Given the description of an element on the screen output the (x, y) to click on. 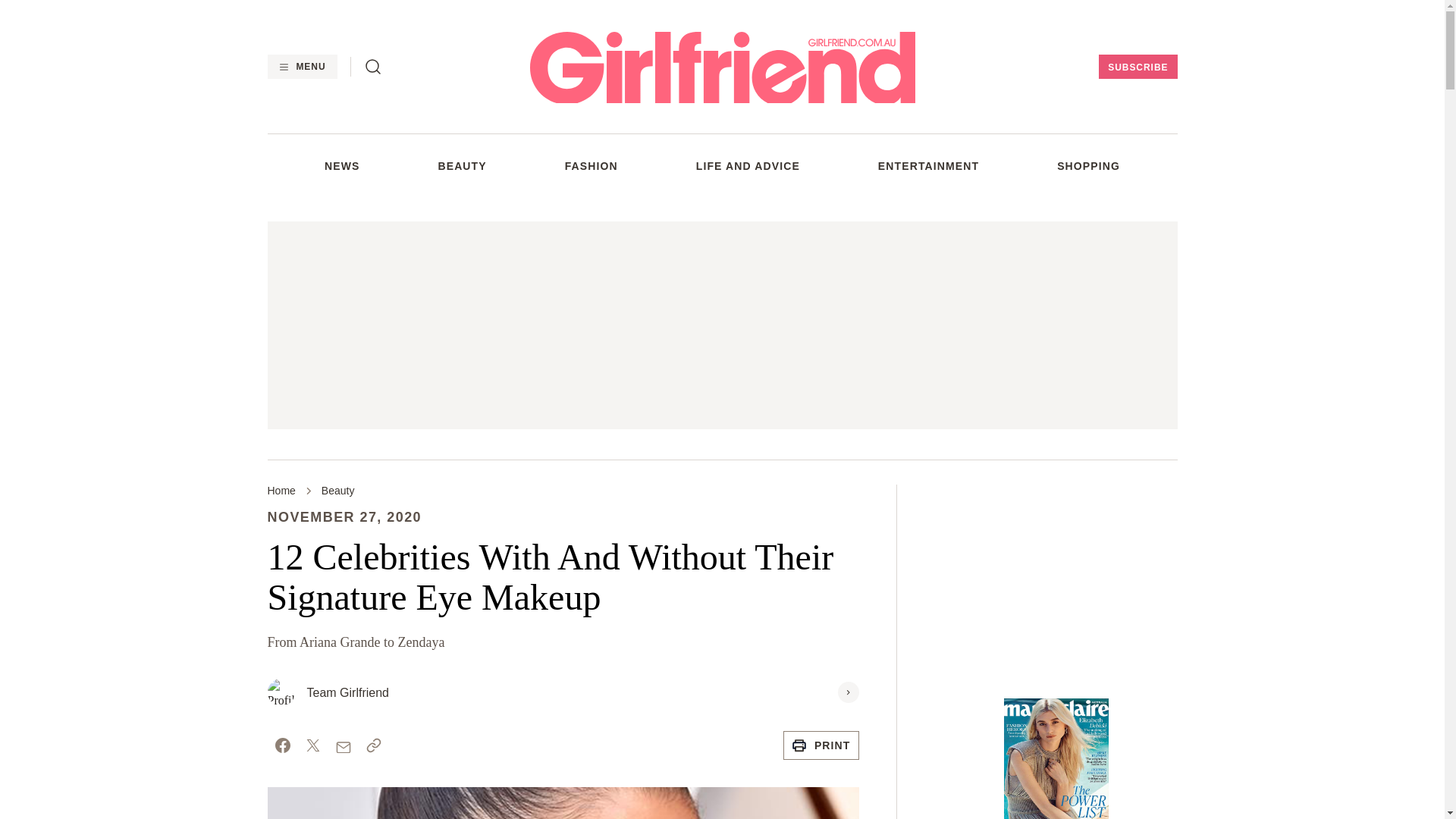
NEWS (341, 165)
SUBSCRIBE (1137, 66)
BEAUTY (462, 165)
MENU (301, 66)
LIFE AND ADVICE (747, 165)
SHOPPING (1088, 165)
ENTERTAINMENT (927, 165)
FASHION (590, 165)
